Given the description of an element on the screen output the (x, y) to click on. 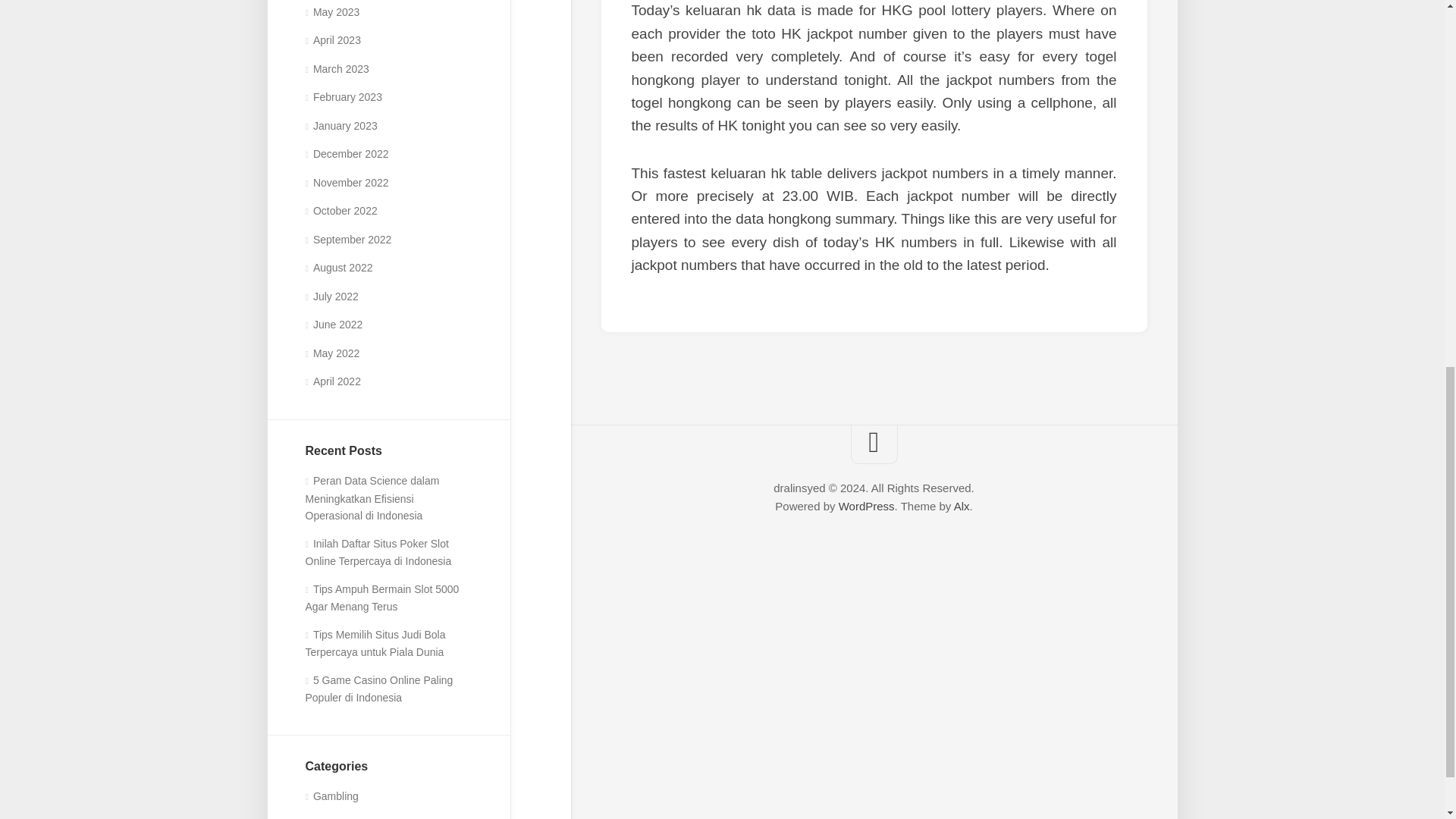
Tips Ampuh Bermain Slot 5000 Agar Menang Terus (381, 598)
October 2022 (340, 210)
December 2022 (346, 153)
May 2023 (331, 11)
Gambling (331, 796)
November 2022 (346, 182)
5 Game Casino Online Paling Populer di Indonesia (378, 689)
February 2023 (342, 96)
